Given the description of an element on the screen output the (x, y) to click on. 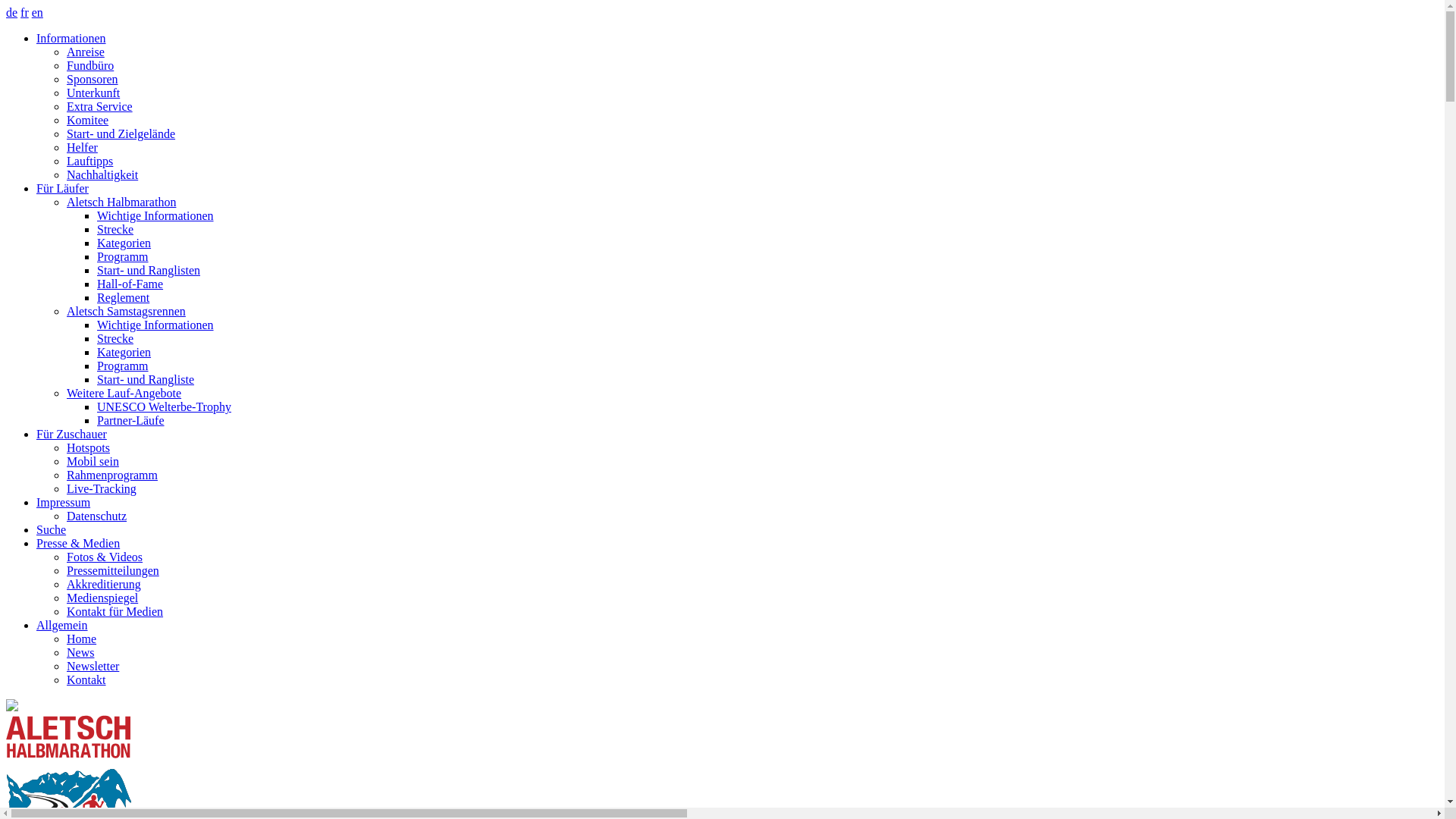
UNESCO Welterbe-Trophy Element type: text (164, 406)
Reglement Element type: text (123, 297)
Hotspots Element type: text (87, 447)
Wichtige Informationen Element type: text (155, 324)
Mobil sein Element type: text (92, 461)
Anreise Element type: text (85, 51)
Presse & Medien Element type: text (77, 542)
Impressum Element type: text (63, 501)
Strecke Element type: text (115, 338)
Programm Element type: text (122, 256)
Sponsoren Element type: text (92, 78)
Suche Element type: text (50, 529)
Helfer Element type: text (81, 147)
Extra Service Element type: text (99, 106)
en Element type: text (37, 12)
Akkreditierung Element type: text (103, 583)
Live-Tracking Element type: text (101, 488)
Home Element type: text (81, 638)
Komitee Element type: text (87, 119)
Kategorien Element type: text (123, 351)
Strecke Element type: text (115, 228)
Start- und Rangliste Element type: text (145, 379)
fr Element type: text (24, 12)
Aletsch Samstagsrennen Element type: text (125, 310)
Hall-of-Fame Element type: text (130, 283)
Wichtige Informationen Element type: text (155, 215)
Nachhaltigkeit Element type: text (102, 174)
Pressemitteilungen Element type: text (112, 570)
Newsletter Element type: text (92, 665)
Fotos & Videos Element type: text (104, 556)
News Element type: text (80, 652)
Lauftipps Element type: text (89, 160)
Aletsch Halbmarathon Element type: text (120, 201)
Weitere Lauf-Angebote Element type: text (123, 392)
Informationen Element type: text (71, 37)
Start- und Ranglisten Element type: text (148, 269)
Allgemein Element type: text (61, 624)
Programm Element type: text (122, 365)
Unterkunft Element type: text (92, 92)
Datenschutz Element type: text (96, 515)
de Element type: text (11, 12)
Rahmenprogramm Element type: text (111, 474)
Kategorien Element type: text (123, 242)
Medienspiegel Element type: text (102, 597)
Kontakt Element type: text (86, 679)
